Given the description of an element on the screen output the (x, y) to click on. 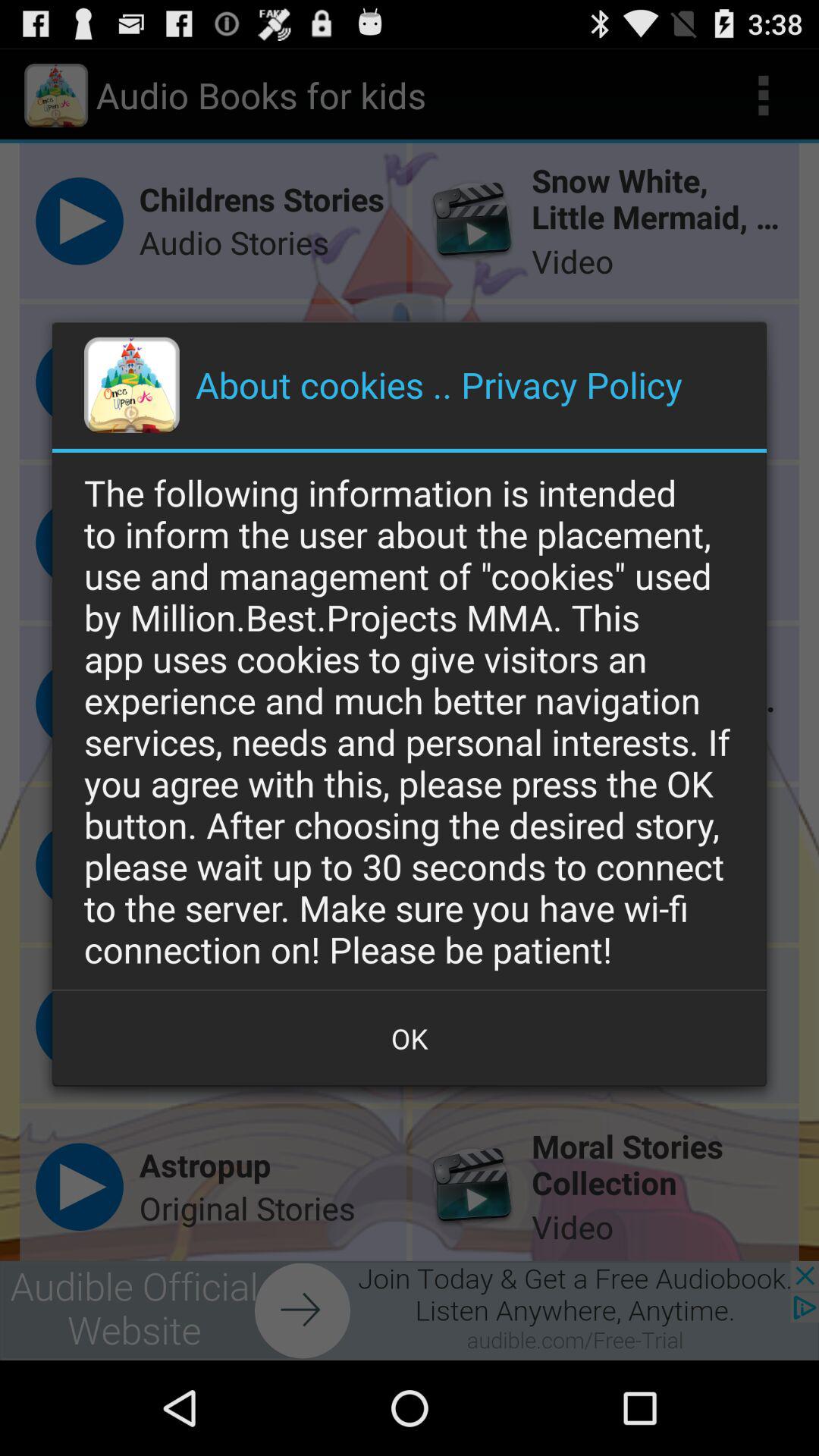
select the the following information (409, 720)
